Given the description of an element on the screen output the (x, y) to click on. 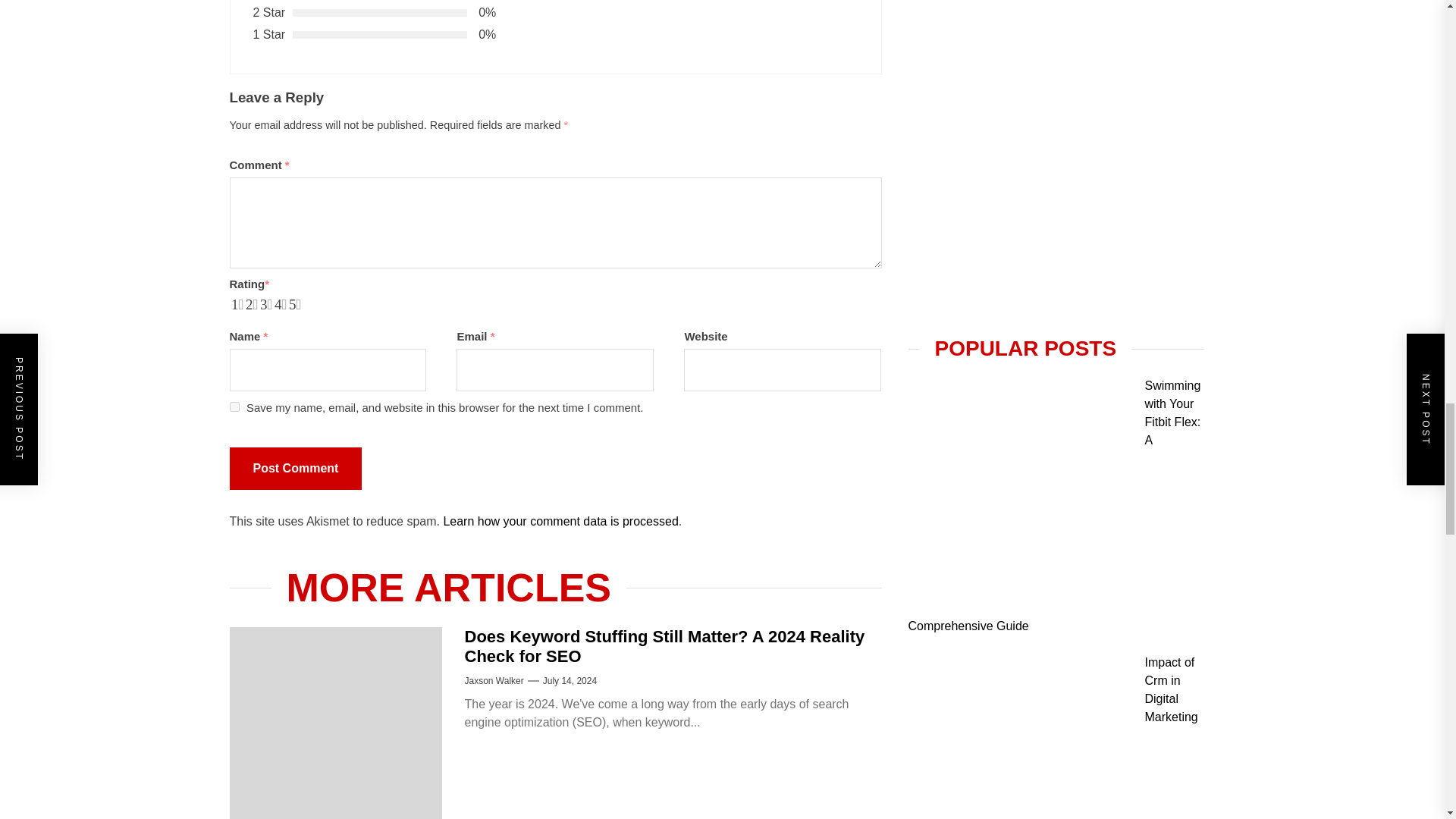
yes (233, 406)
Post Comment (294, 468)
